Given the description of an element on the screen output the (x, y) to click on. 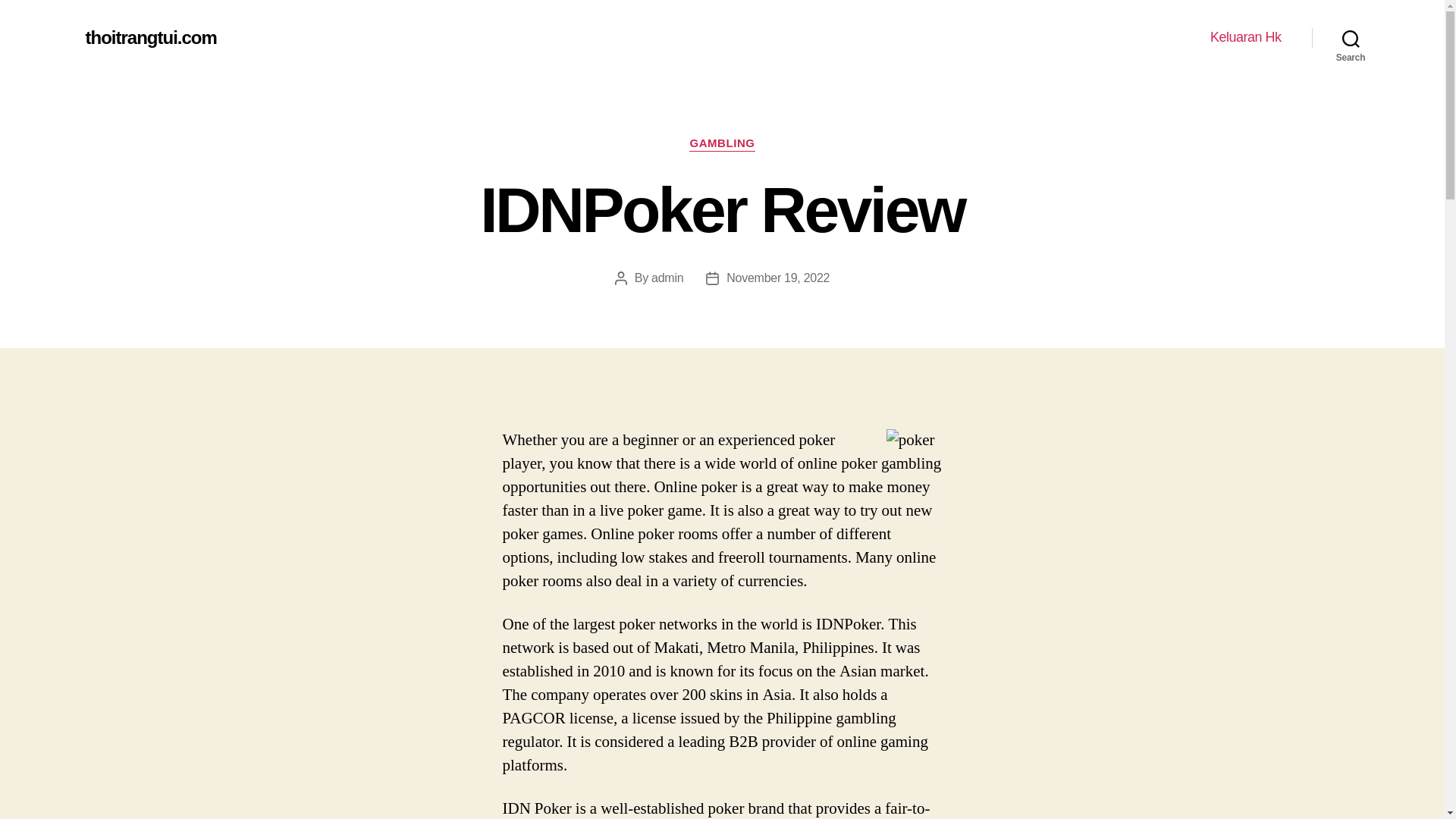
thoitrangtui.com (149, 37)
admin (666, 277)
November 19, 2022 (777, 277)
Search (1350, 37)
Keluaran Hk (1245, 37)
GAMBLING (721, 143)
